Given the description of an element on the screen output the (x, y) to click on. 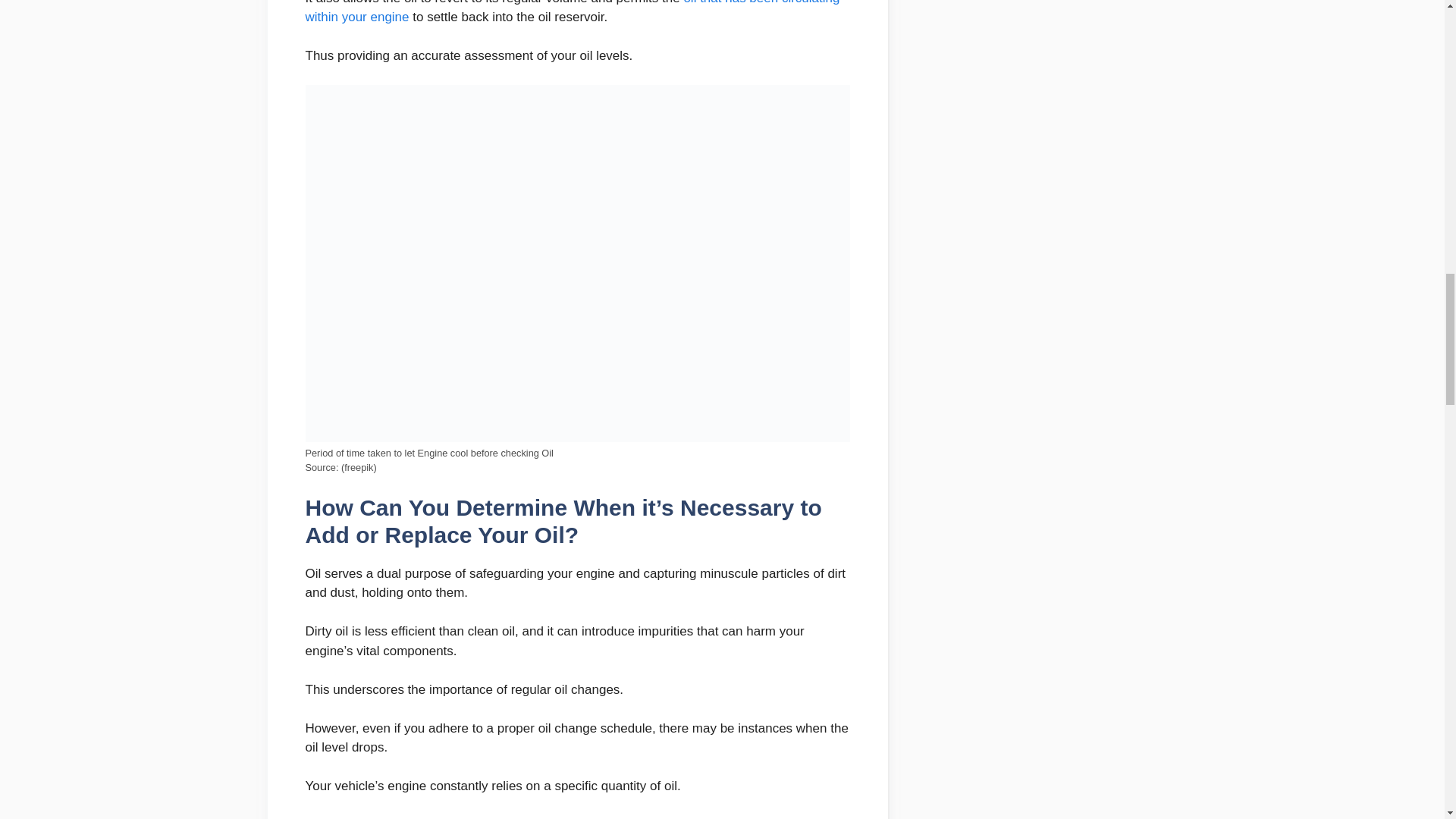
oil that has been circulating within your engine (572, 12)
